Given the description of an element on the screen output the (x, y) to click on. 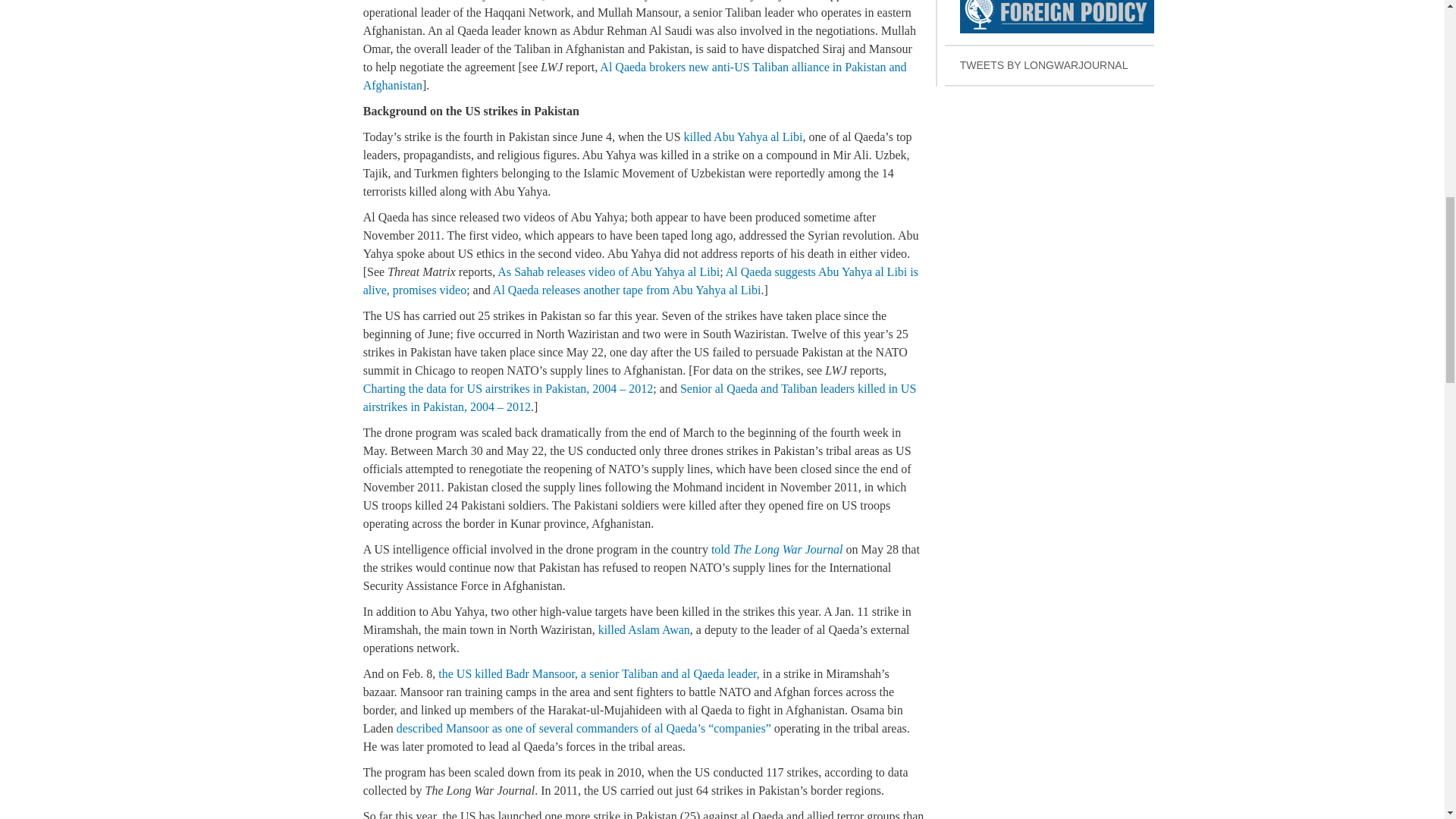
killed Aslam Awan (644, 629)
Al Qaeda releases another tape from Abu Yahya al Libi (627, 289)
told The Long War Journal (1049, 22)
Al Qaeda suggests Abu Yahya al Libi is alive, promises video (777, 549)
As Sahab releases video of Abu Yahya al Libi (640, 280)
killed Abu Yahya al Libi (608, 271)
